Given the description of an element on the screen output the (x, y) to click on. 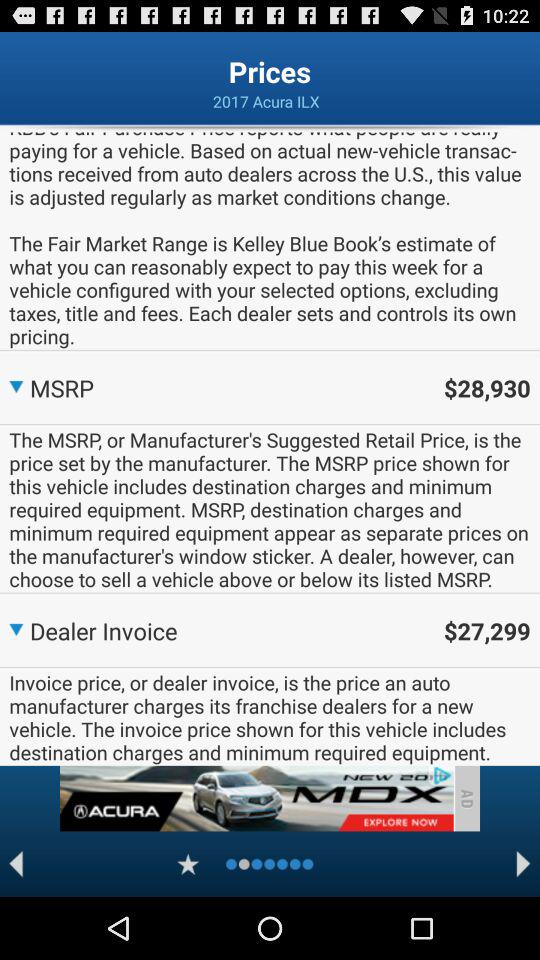
forward (523, 864)
